Given the description of an element on the screen output the (x, y) to click on. 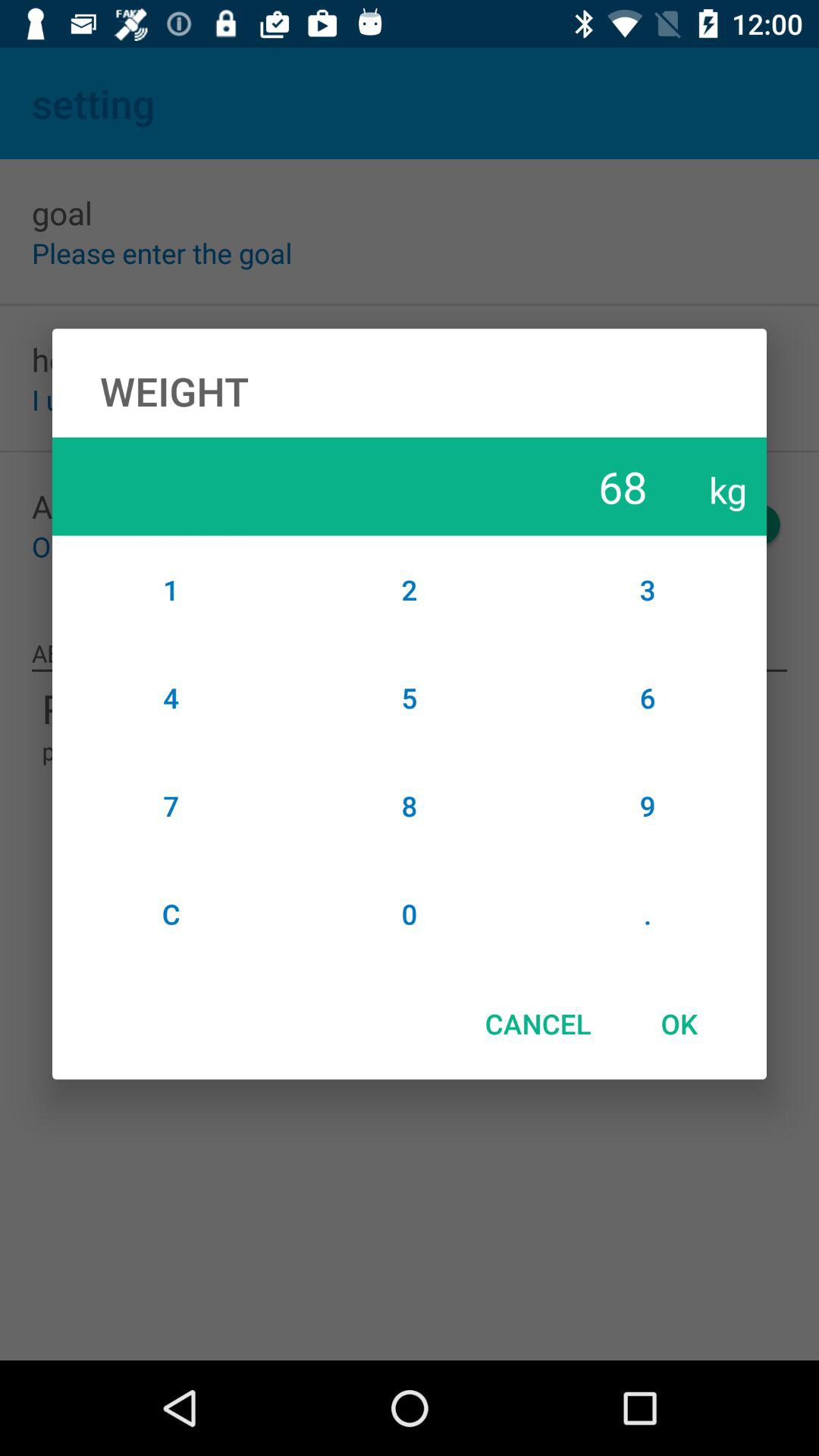
choose item above 9 item (647, 697)
